Given the description of an element on the screen output the (x, y) to click on. 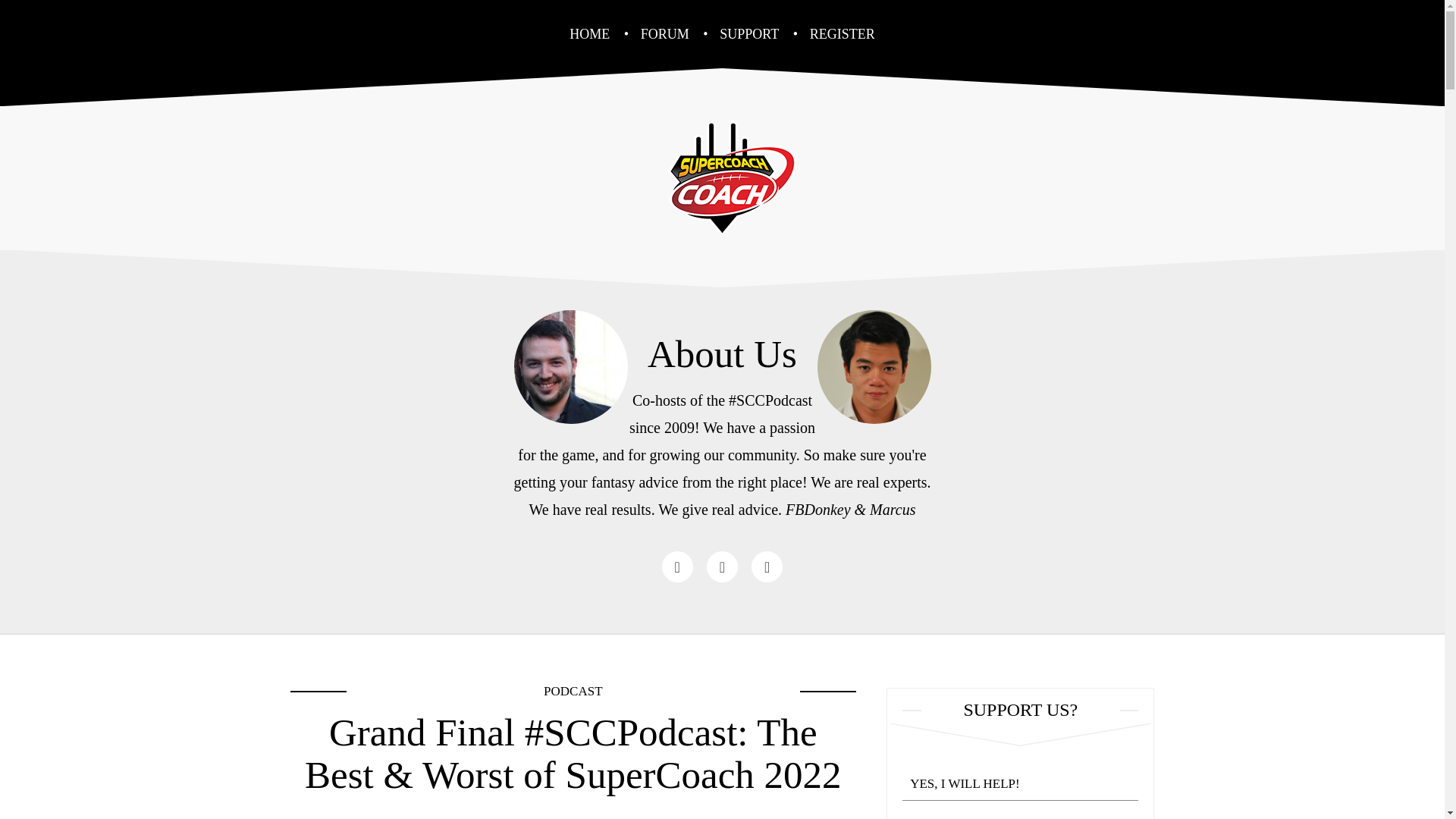
Soundcloud (766, 566)
Our Facebook Profile (677, 566)
PODCAST (572, 690)
HOME (589, 33)
SuperCoachCoach Community (722, 174)
REGISTER (842, 33)
Register (842, 33)
Follow us on Twitter (721, 566)
Support (749, 33)
SUPPORT (749, 33)
FORUM (665, 33)
Home (589, 33)
Forum (665, 33)
